Given the description of an element on the screen output the (x, y) to click on. 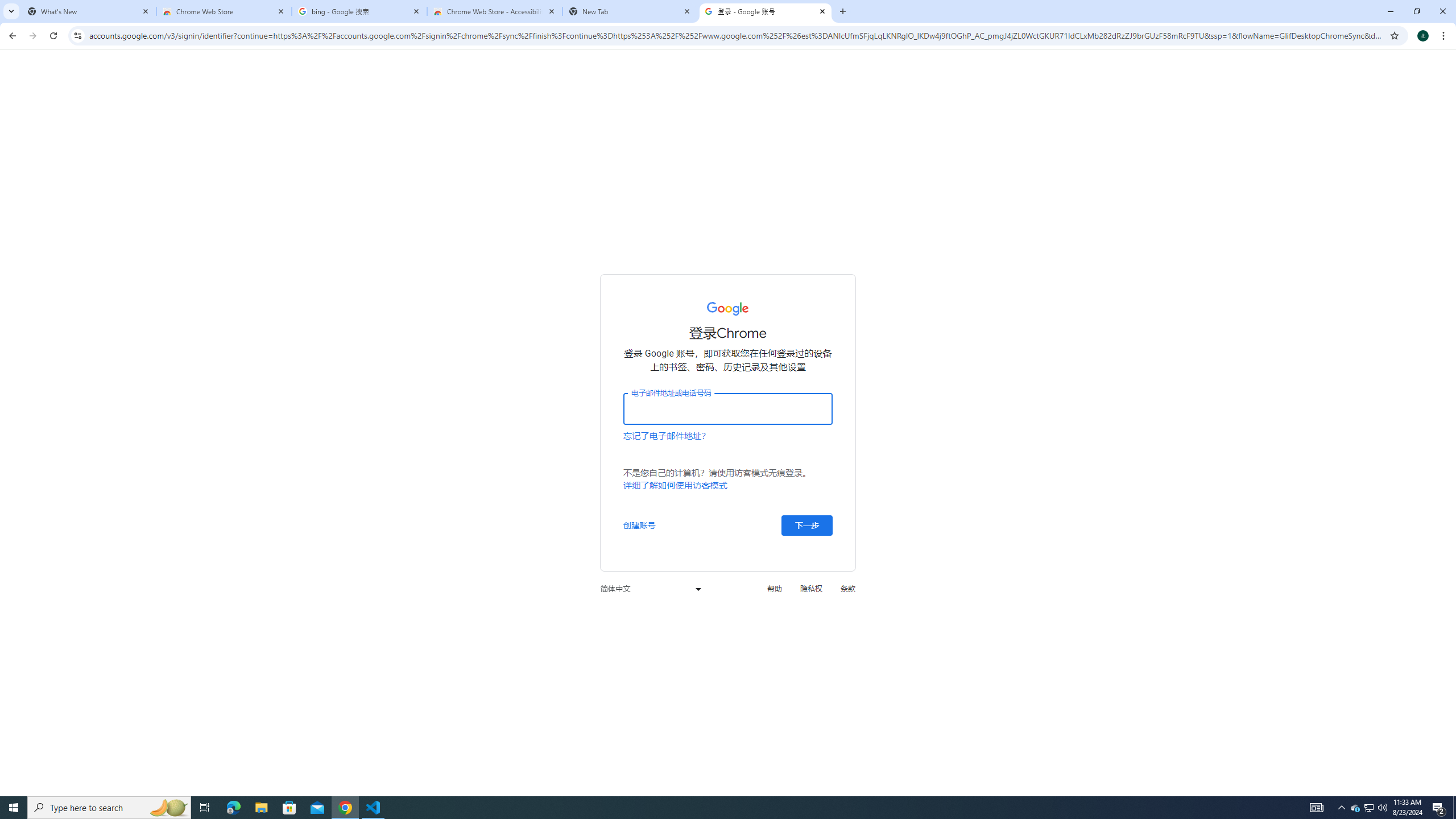
What's New (88, 11)
